Given the description of an element on the screen output the (x, y) to click on. 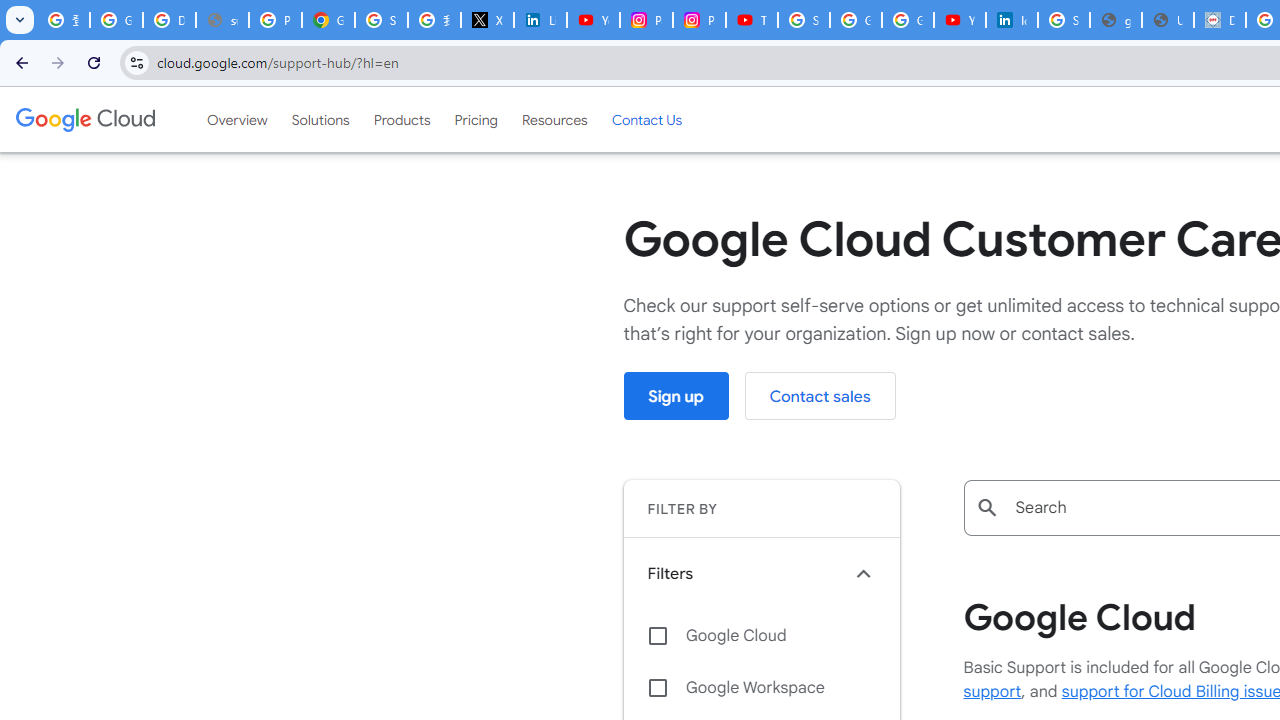
google_privacy_policy_en.pdf (1115, 20)
Resources (553, 119)
LinkedIn Privacy Policy (540, 20)
support.google.com - Network error (222, 20)
Sign in - Google Accounts (381, 20)
Solutions (320, 119)
Filters keyboard_arrow_up (761, 573)
Data Privacy Framework (1219, 20)
